Given the description of an element on the screen output the (x, y) to click on. 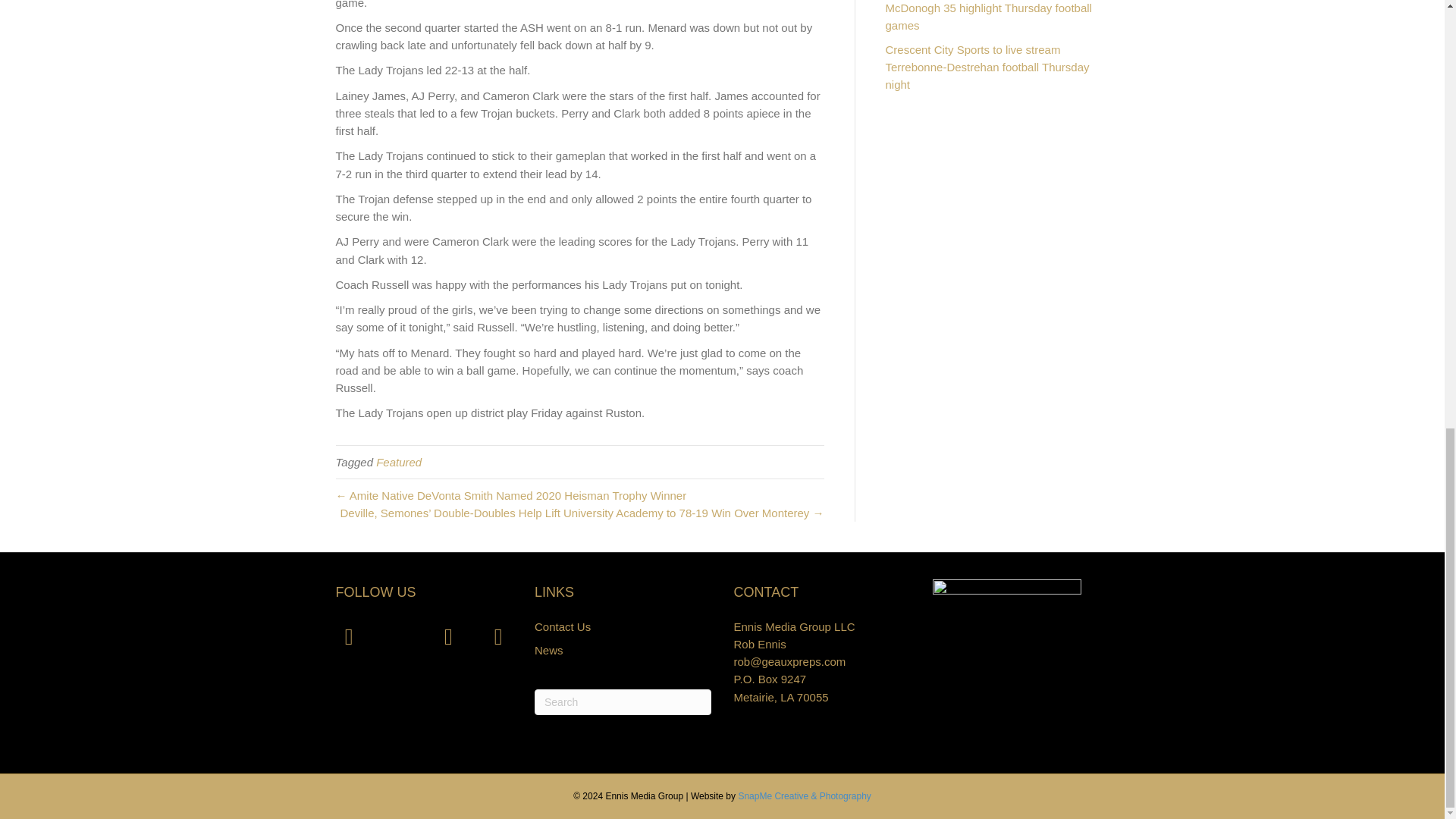
Type and press Enter to search. (622, 701)
Featured (398, 461)
News (548, 649)
Contact Us (562, 626)
